Given the description of an element on the screen output the (x, y) to click on. 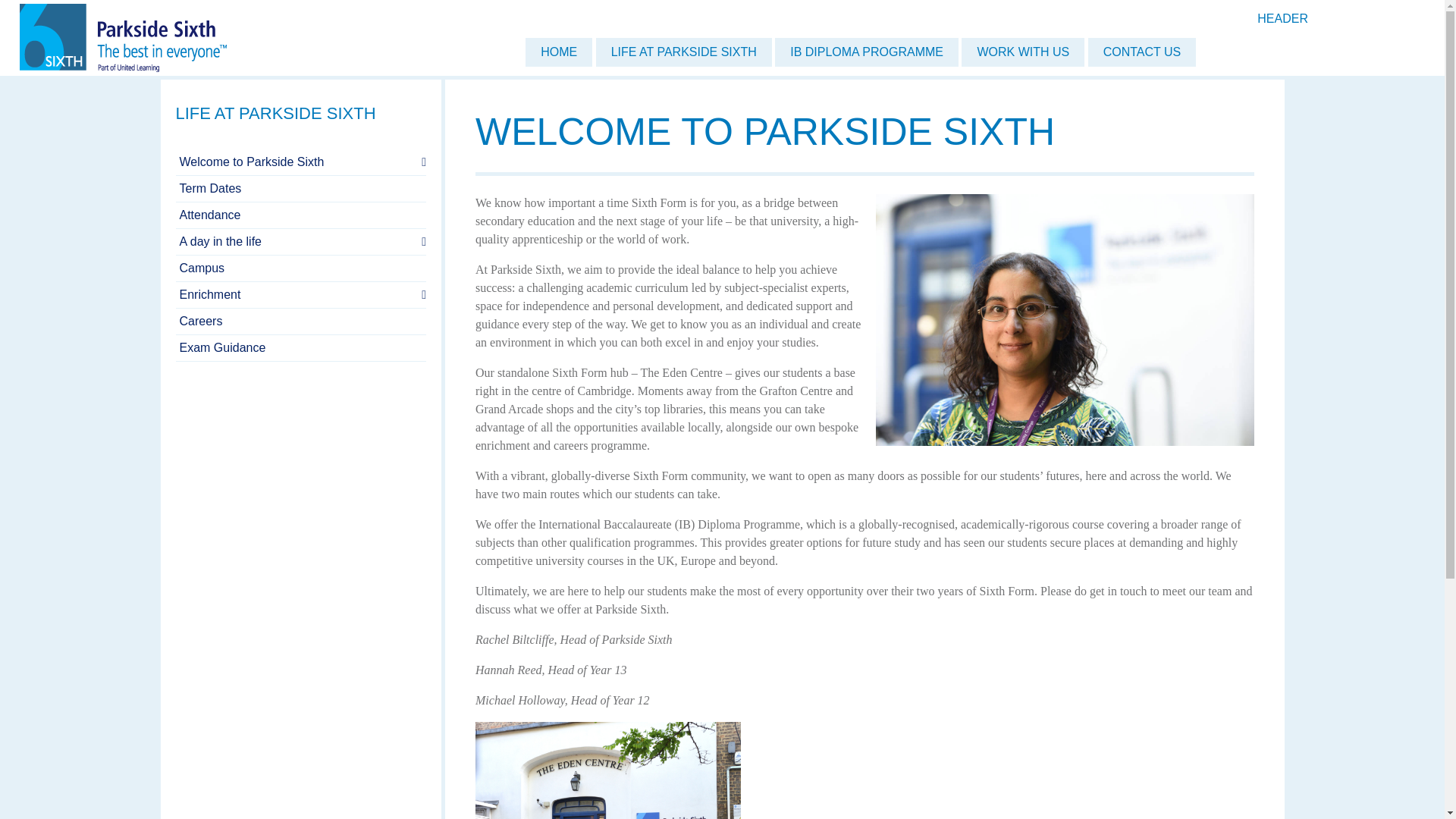
Exam Guidance (301, 347)
Careers (301, 321)
Campus (301, 268)
Attendance (301, 215)
Welcome to Parkside Sixth (301, 162)
WORK WITH US (1022, 51)
Term Dates (301, 189)
IB DIPLOMA PROGRAMME (866, 51)
A day in the life (301, 242)
CONTACT US (1141, 51)
